Given the description of an element on the screen output the (x, y) to click on. 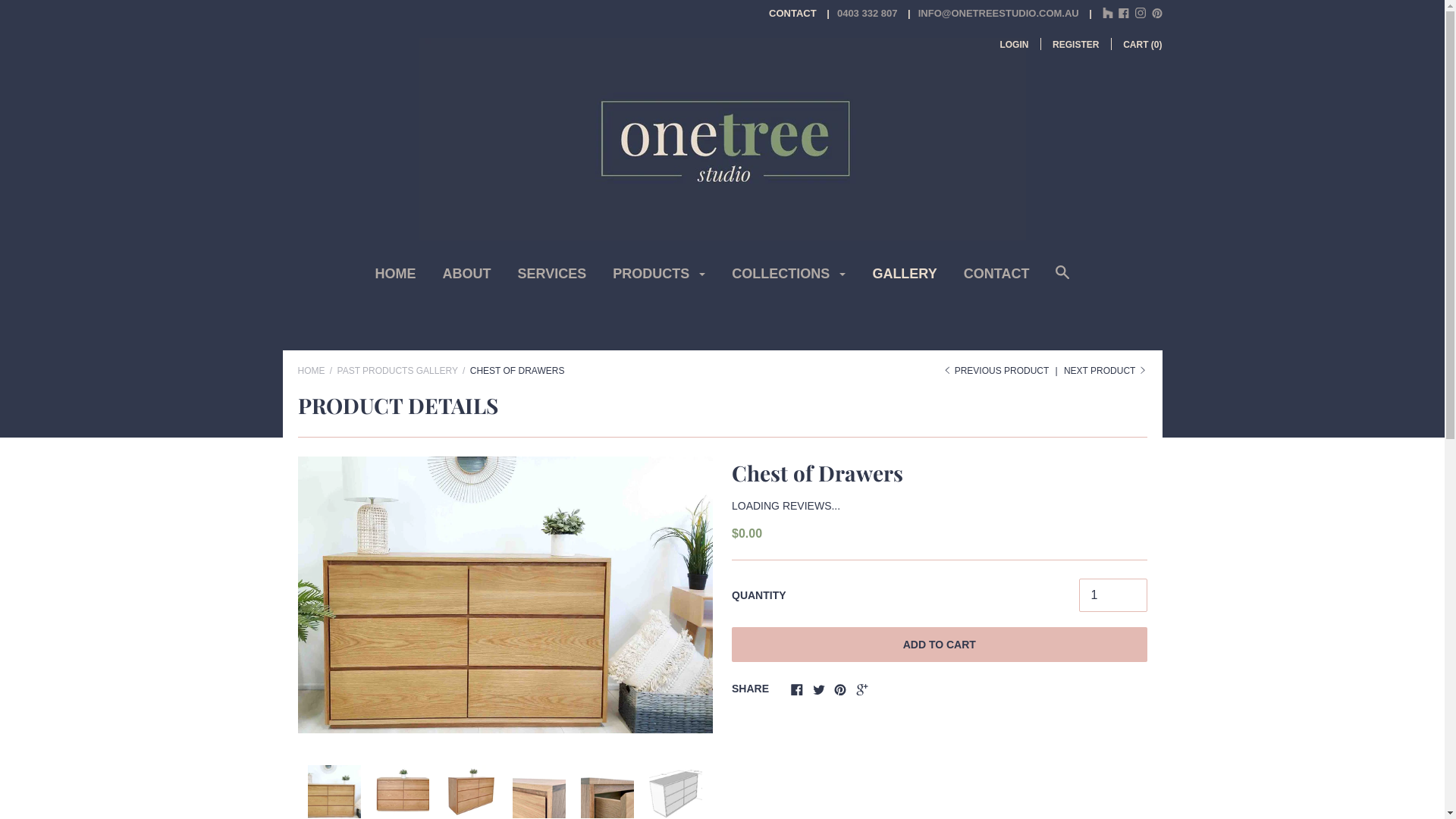
COLLECTIONS Element type: text (788, 279)
Instagram Element type: text (1140, 14)
Houzz Element type: hover (1107, 12)
ADD TO CART Element type: text (939, 644)
Google+ Element type: text (862, 690)
PRODUCTS Element type: text (658, 279)
CART (0) Element type: text (1142, 44)
REGISTER Element type: text (1075, 44)
ABOUT Element type: text (466, 279)
PAST PRODUCTS GALLERY Element type: text (397, 370)
GALLERY Element type: text (904, 279)
SERVICES Element type: text (551, 279)
Facebook Element type: text (796, 690)
Twitter Element type: text (818, 690)
Pinterest Element type: text (1156, 14)
HOME Element type: text (395, 279)
INFO@ONETREESTUDIO.COM.AU Element type: text (989, 13)
HOME Element type: text (310, 370)
Facebook Element type: text (1123, 14)
CONTACT Element type: text (996, 279)
Pinterest Element type: text (840, 690)
PREVIOUS PRODUCT Element type: text (996, 370)
NEXT PRODUCT Element type: text (1105, 370)
LOGIN Element type: text (1013, 44)
Search Element type: hover (1062, 279)
